Given the description of an element on the screen output the (x, y) to click on. 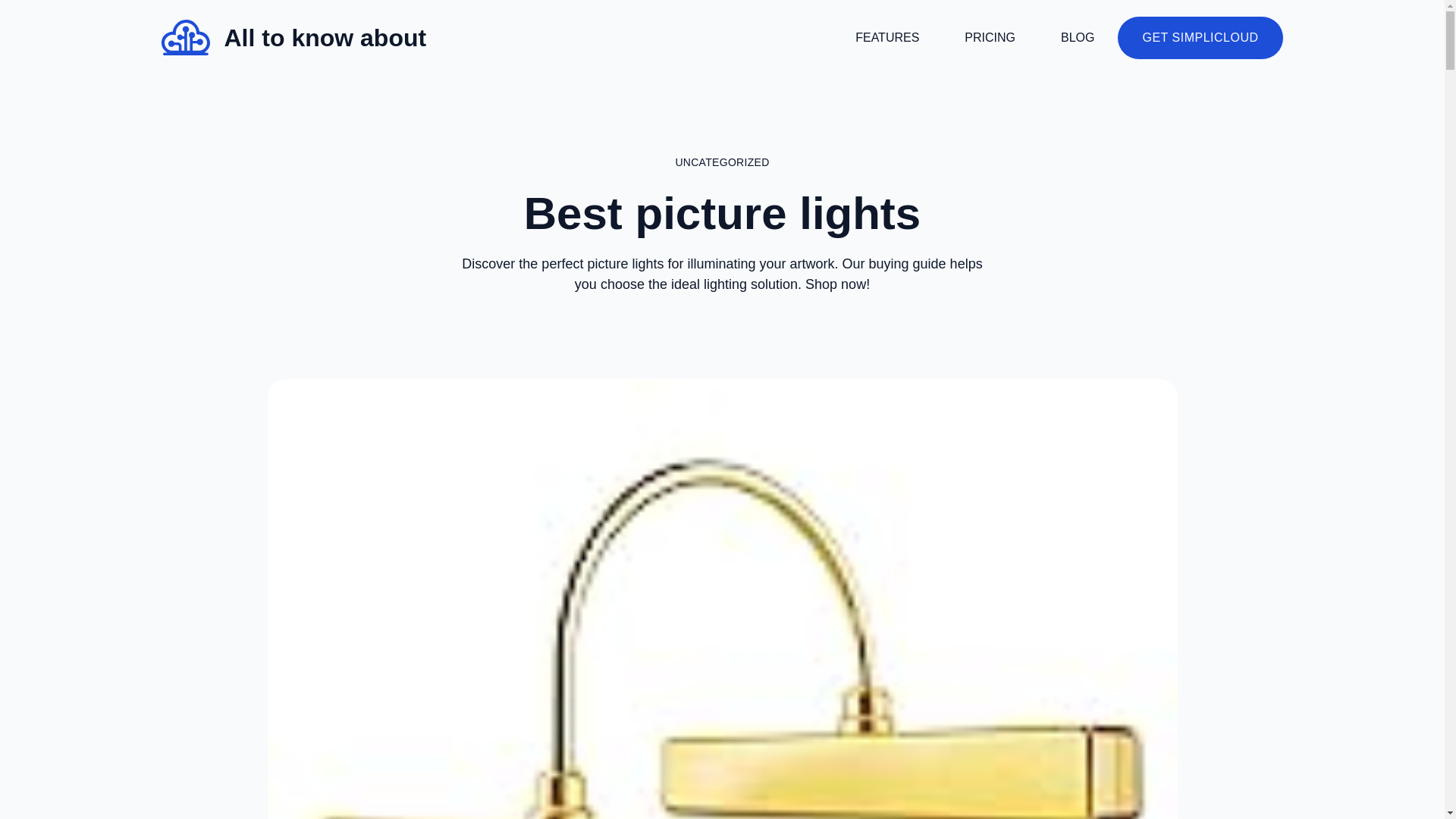
BLOG (1077, 37)
All to know about (325, 37)
PRICING (990, 37)
FEATURES (887, 37)
